Given the description of an element on the screen output the (x, y) to click on. 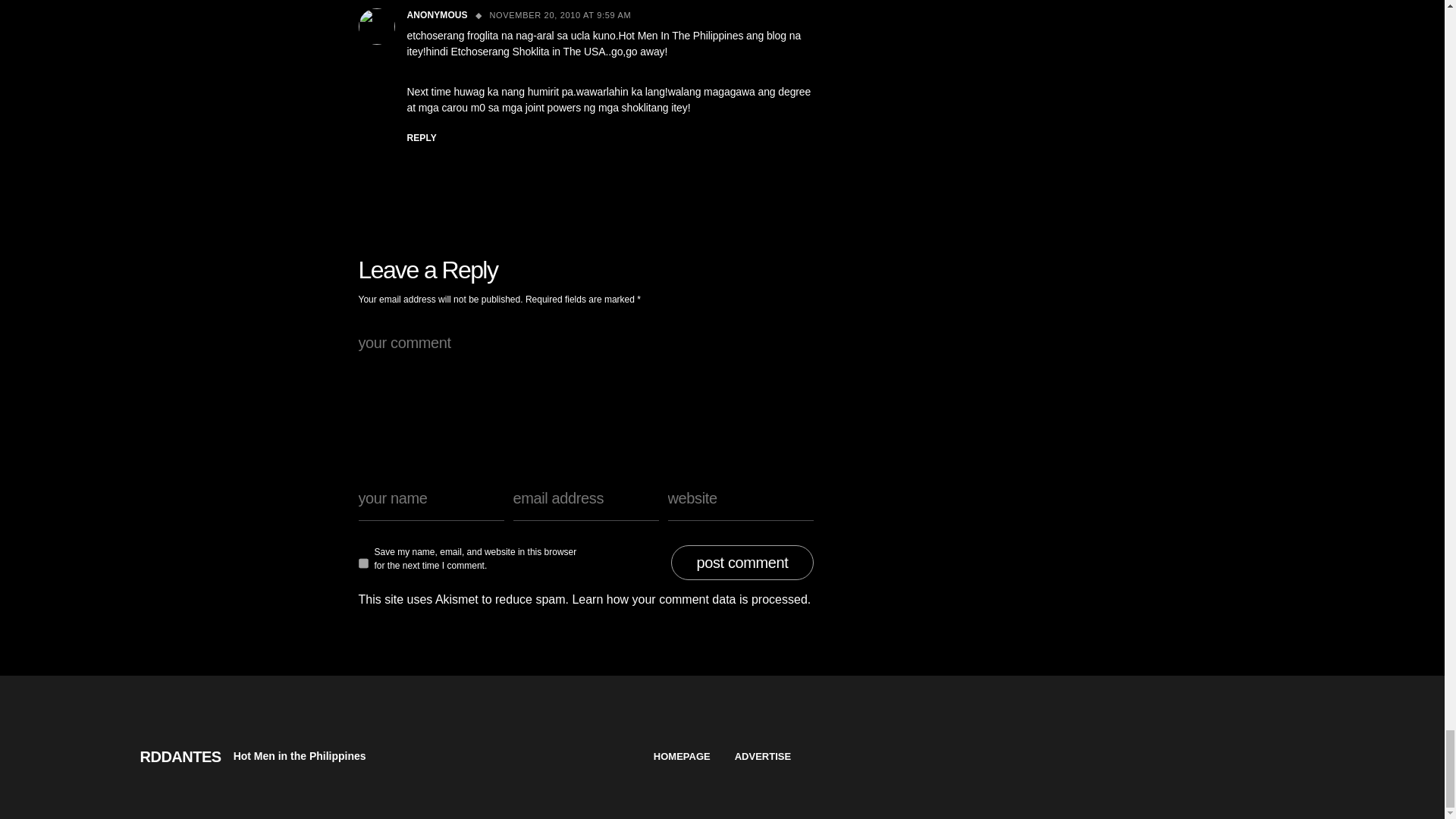
Post Comment (741, 562)
